Given the description of an element on the screen output the (x, y) to click on. 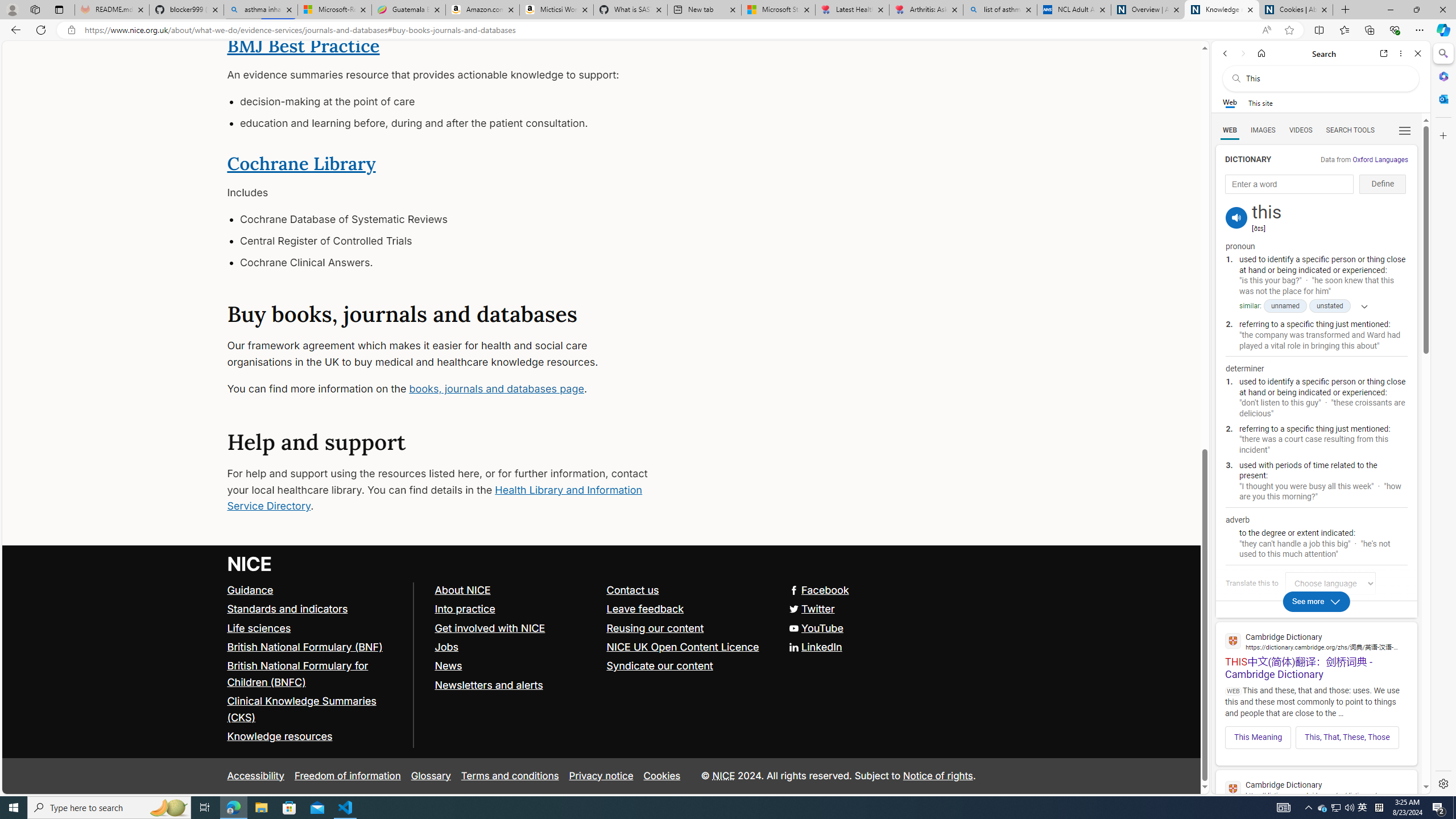
Cochrane Clinical Answers. (446, 262)
Accessibility (255, 775)
Search Filter, VIDEOS (1300, 129)
Search Filter, IMAGES (1262, 129)
Accessibility (255, 775)
NICE UK Open Content Licence (681, 647)
NICE UK Open Content Licence (686, 647)
Knowledge resources (315, 736)
Translate this to Choose language (1329, 582)
Life sciences (315, 628)
LinkedIn (601, 647)
